Given the description of an element on the screen output the (x, y) to click on. 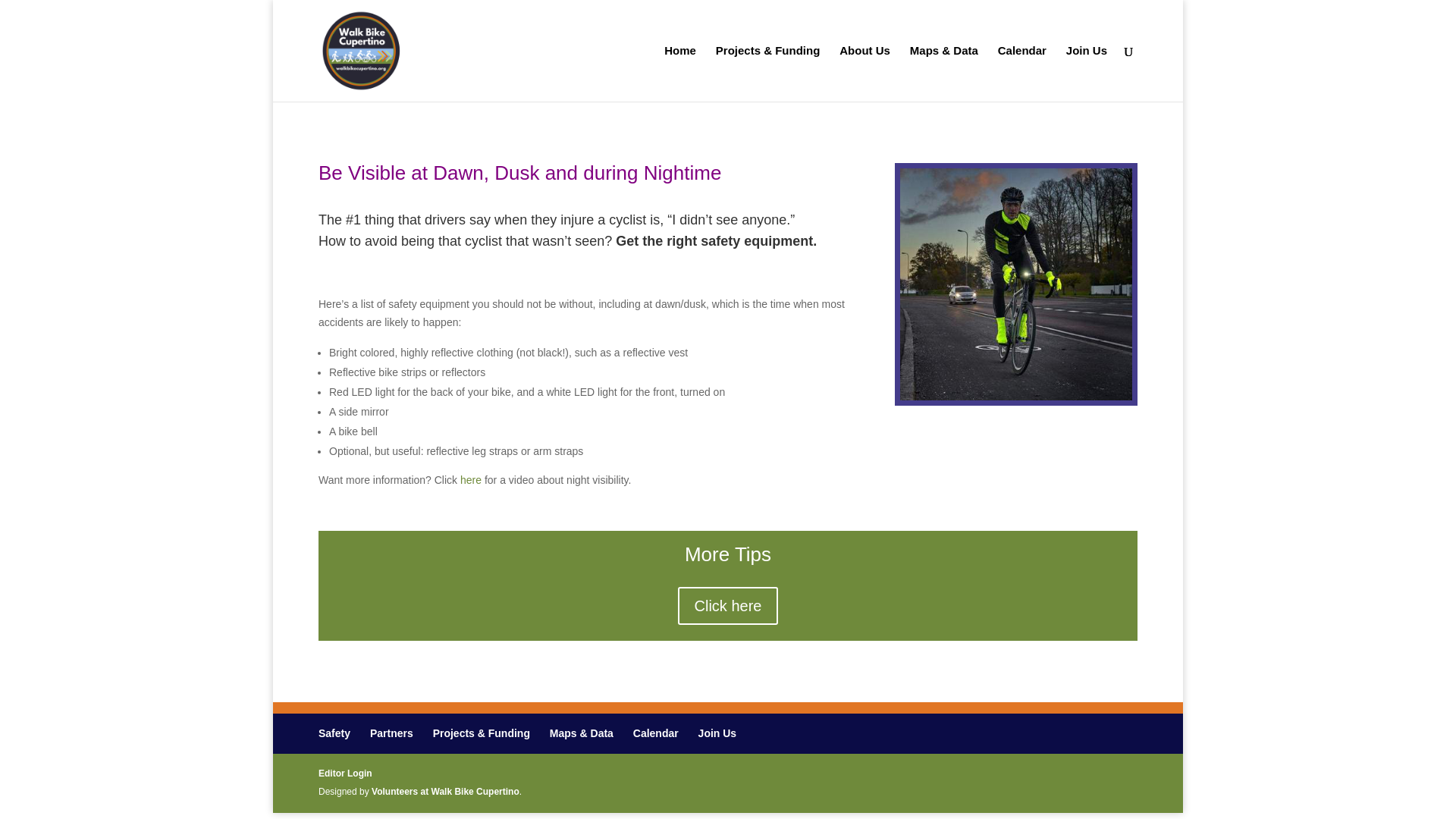
Volunteers at Walk Bike Cupertino (445, 791)
Calendar (655, 733)
Join Us (717, 733)
Click here (728, 605)
Editor Login (345, 773)
About Us (864, 73)
Safety (334, 733)
here (470, 480)
Partners (391, 733)
